Given the description of an element on the screen output the (x, y) to click on. 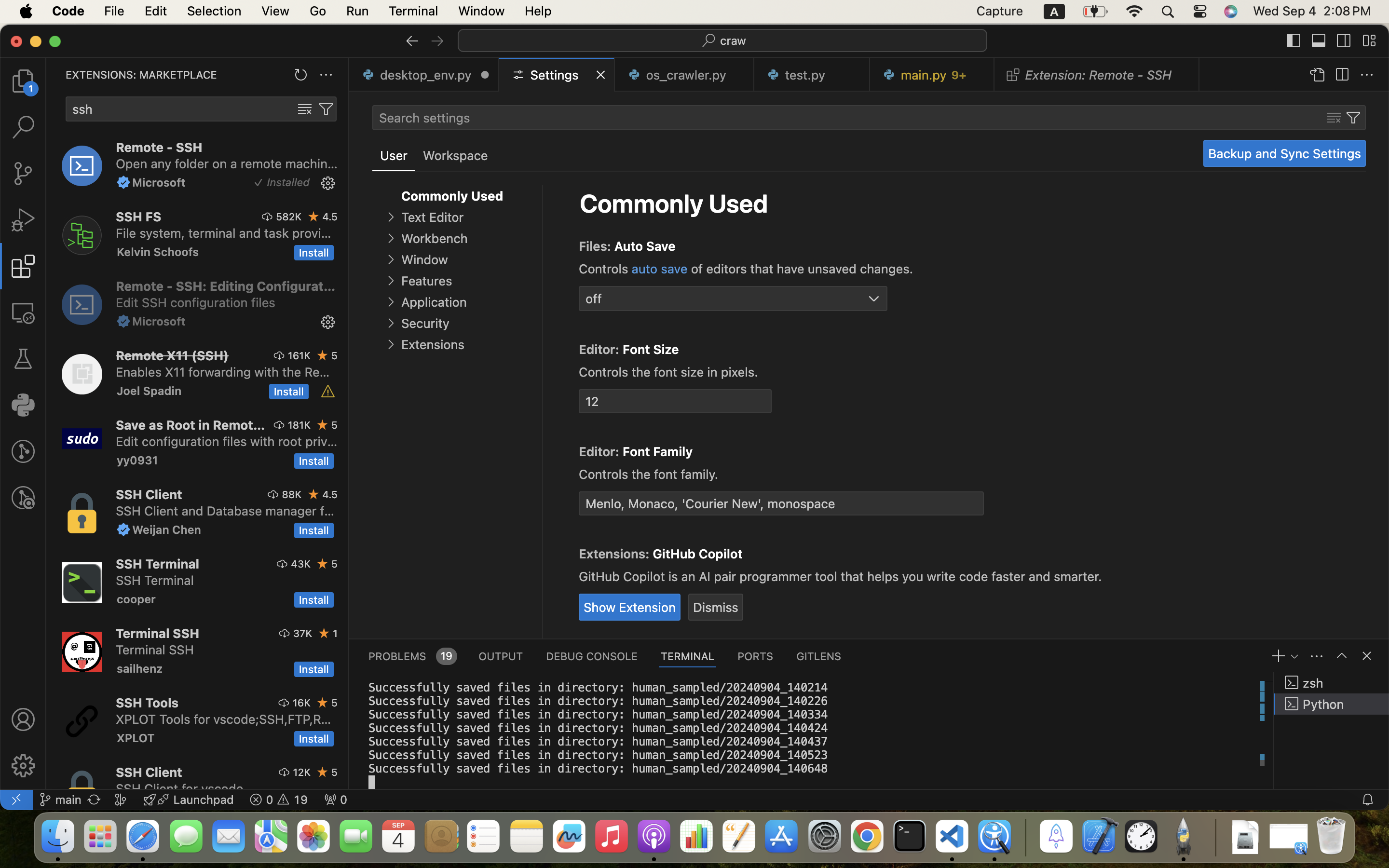
Commonly Used Element type: AXStaticText (673, 203)
0 test.py   Element type: AXRadioButton (812, 74)
Text Editor Element type: AXStaticText (432, 217)
0.4285714328289032 Element type: AXDockItem (1024, 836)
12 Element type: AXIncrementor (674, 401)
